Given the description of an element on the screen output the (x, y) to click on. 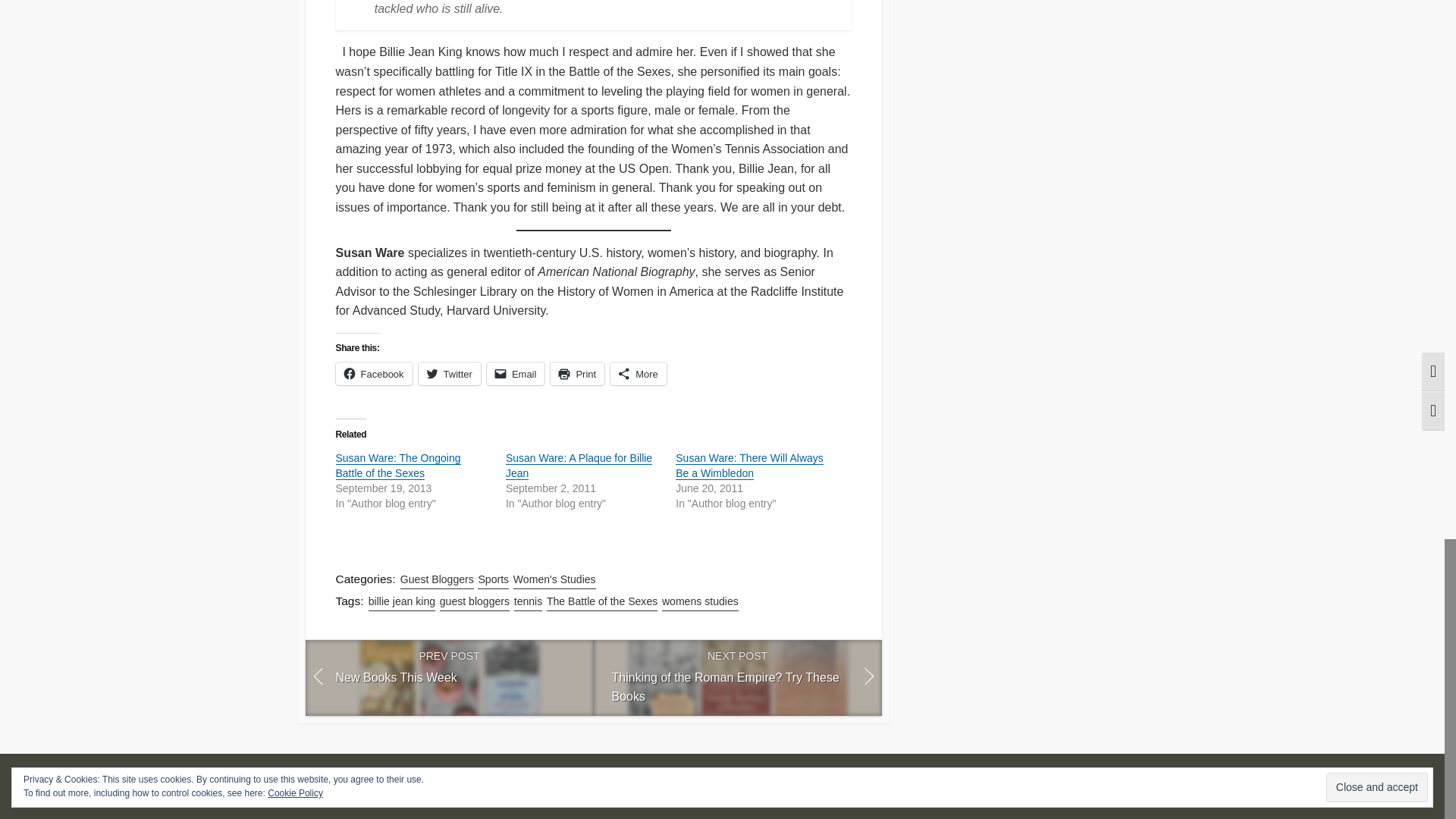
Click to print (577, 373)
Women's Studies (736, 677)
Susan Ware: A Plaque for Billie Jean (554, 579)
Twitter (578, 465)
Click to share on Facebook (449, 373)
Sports (373, 373)
Email (492, 579)
Print (515, 373)
Susan Ware: The Ongoing Battle of the Sexes (577, 373)
Facebook (397, 465)
Click to email a link to a friend (373, 373)
Click to share on Twitter (515, 373)
guest bloggers (449, 373)
